Given the description of an element on the screen output the (x, y) to click on. 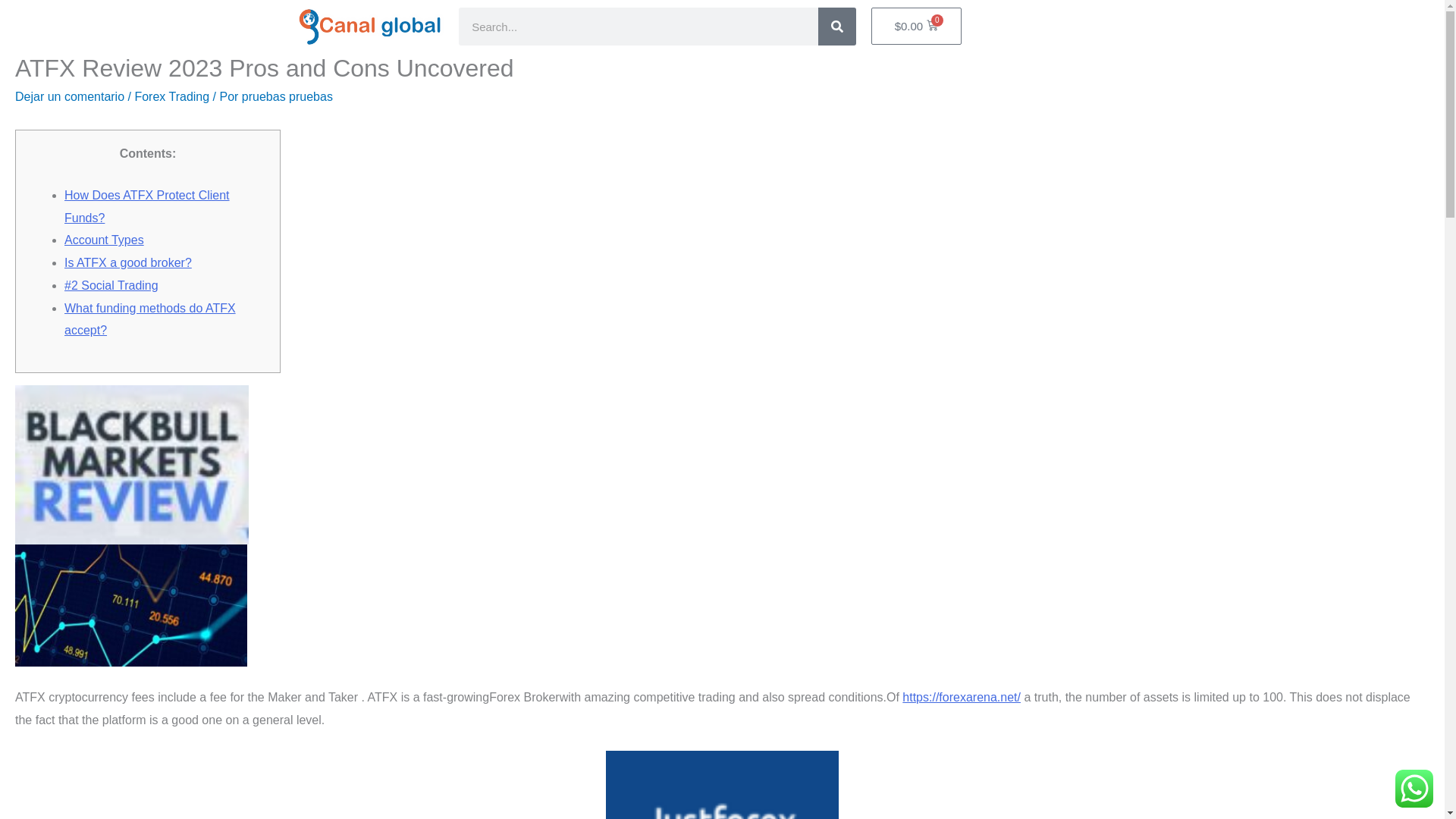
How Does ATFX Protect Client Funds? (147, 206)
Is ATFX a good broker? (128, 262)
Dejar un comentario (68, 96)
Ver todas las entradas de pruebas pruebas (287, 96)
Forex Trading (171, 96)
What funding methods do ATFX accept? (149, 319)
pruebas pruebas (287, 96)
Account Types (104, 239)
